Given the description of an element on the screen output the (x, y) to click on. 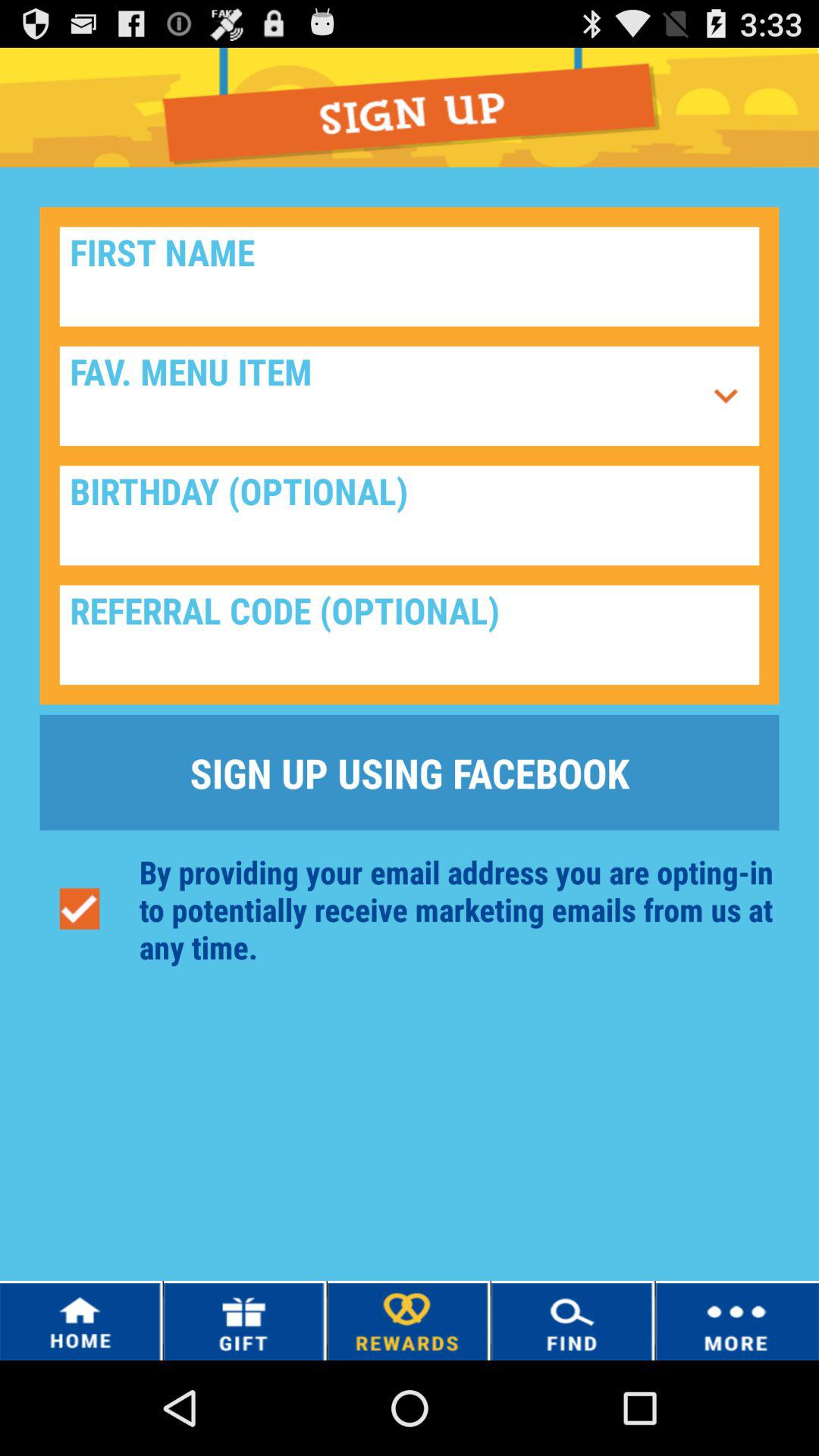
allows the user to choose their favorite menu item (725, 395)
